Given the description of an element on the screen output the (x, y) to click on. 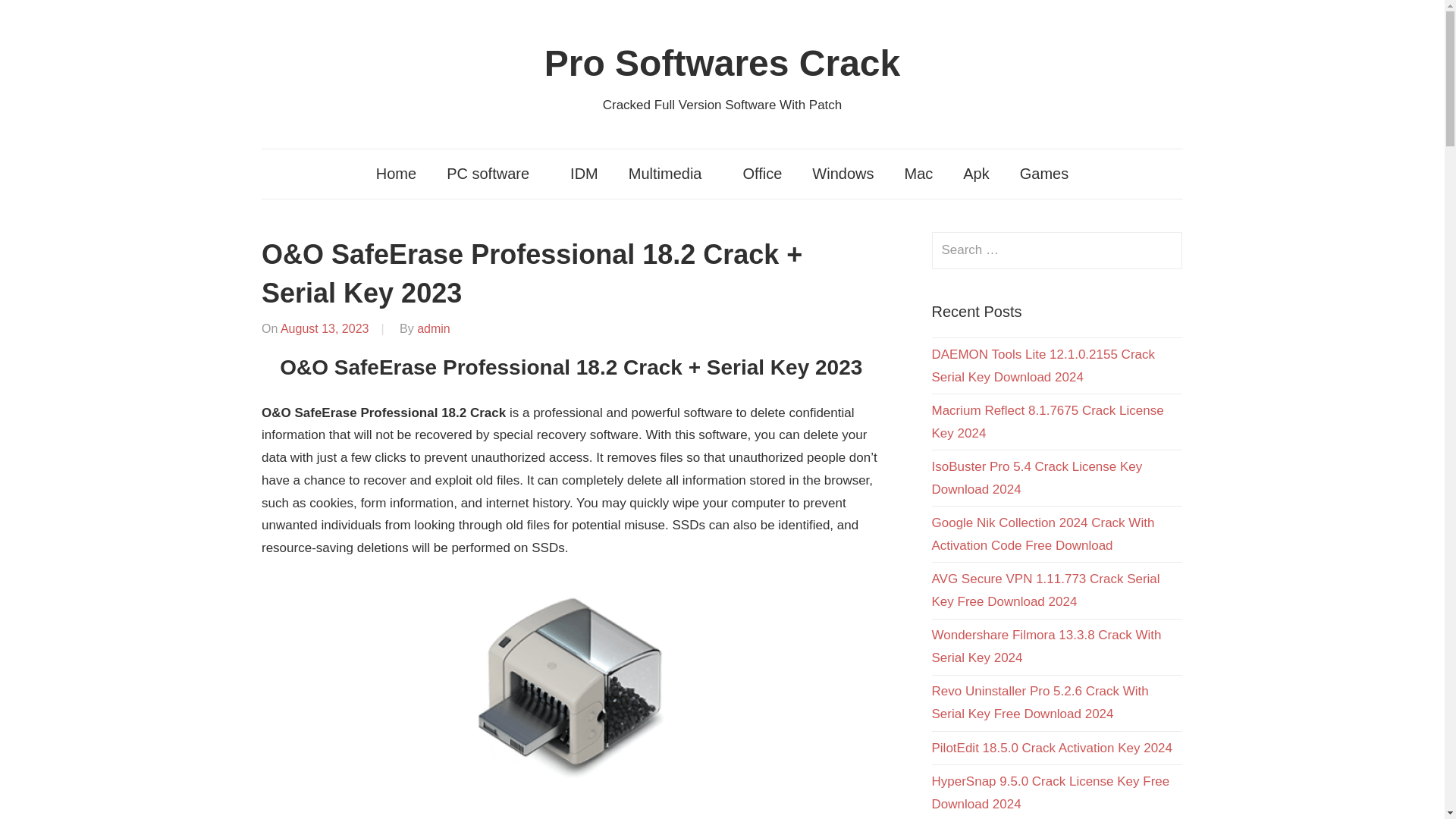
Multimedia (670, 174)
PC software (492, 174)
admin (432, 328)
Apk (975, 174)
9:48 am (325, 328)
View all posts by admin (432, 328)
Games (1043, 174)
August 13, 2023 (325, 328)
Office (761, 174)
Search for: (1056, 250)
Windows (842, 174)
Mac (917, 174)
Pro Softwares Crack (722, 63)
Home (395, 174)
IDM (583, 174)
